Given the description of an element on the screen output the (x, y) to click on. 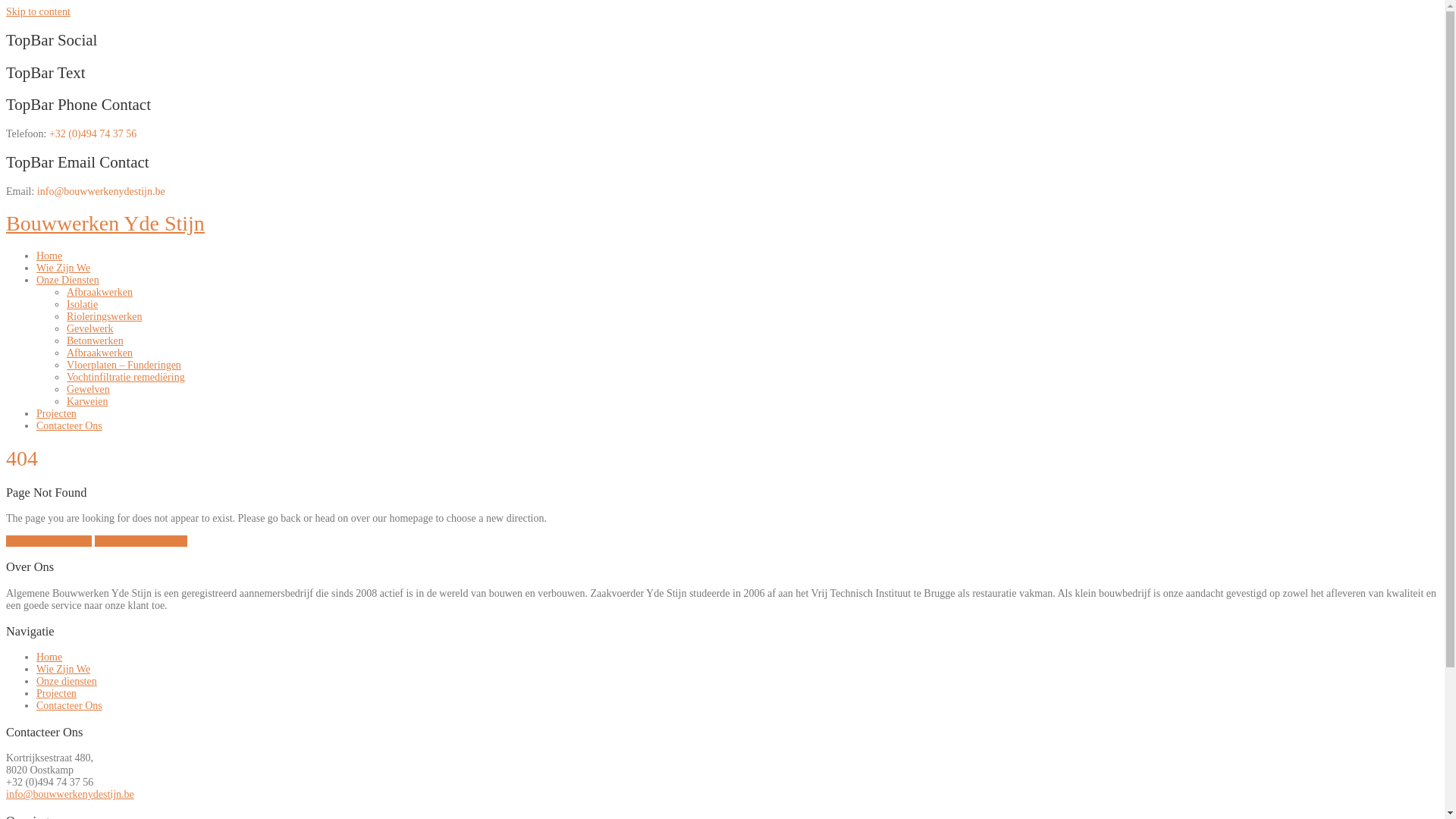
Gewelven Element type: text (87, 389)
Contacteer Ons Element type: text (69, 425)
Rioleringswerken Element type: text (104, 316)
Isolatie Element type: text (81, 304)
Bouwwerken Yde Stijn Element type: text (105, 223)
Wie Zijn We Element type: text (63, 267)
Gevelwerk Element type: text (89, 328)
Afbraakwerken Element type: text (99, 352)
Afbraakwerken Element type: text (99, 292)
Projecten Element type: text (56, 413)
Skip to content Element type: text (38, 11)
Onze Diensten Element type: text (67, 279)
info@bouwwerkenydestijn.be Element type: text (70, 794)
Home Element type: text (49, 255)
Onze diensten Element type: text (66, 681)
Betonwerken Element type: text (94, 340)
Go back to homepage Element type: text (140, 540)
Contacteer Ons Element type: text (69, 705)
Wie Zijn We Element type: text (63, 668)
Karweien Element type: text (86, 401)
Projecten Element type: text (56, 693)
Home Element type: text (49, 656)
Go to previous page Element type: text (48, 540)
